Given the description of an element on the screen output the (x, y) to click on. 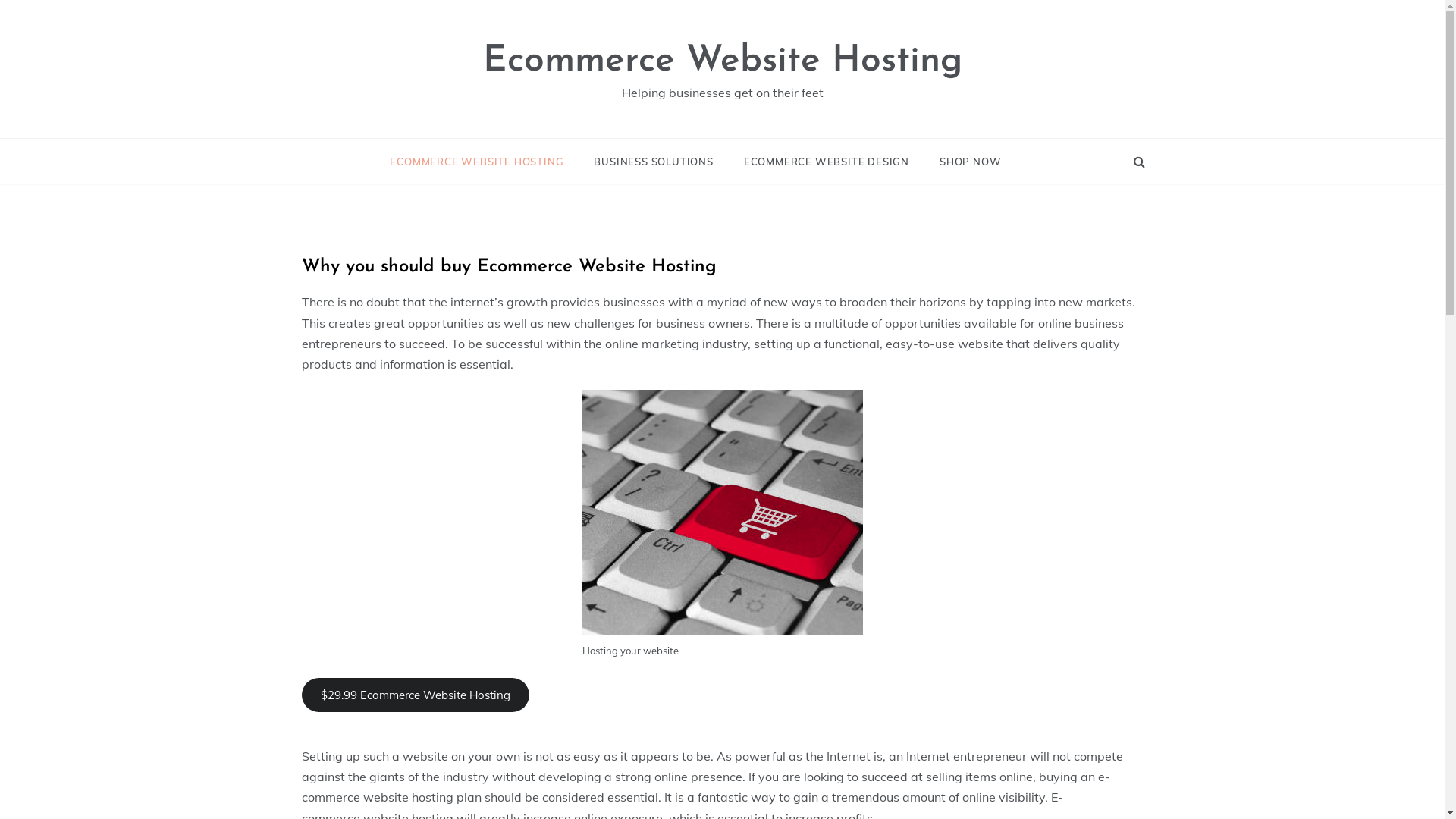
ECOMMERCE WEBSITE HOSTING Element type: text (483, 161)
$29.99 Ecommerce Website Hosting Element type: text (415, 694)
BUSINESS SOLUTIONS Element type: text (653, 161)
ECOMMERCE WEBSITE DESIGN Element type: text (826, 161)
Ecommerce Website Hosting Element type: text (721, 61)
SHOP NOW Element type: text (962, 161)
